Given the description of an element on the screen output the (x, y) to click on. 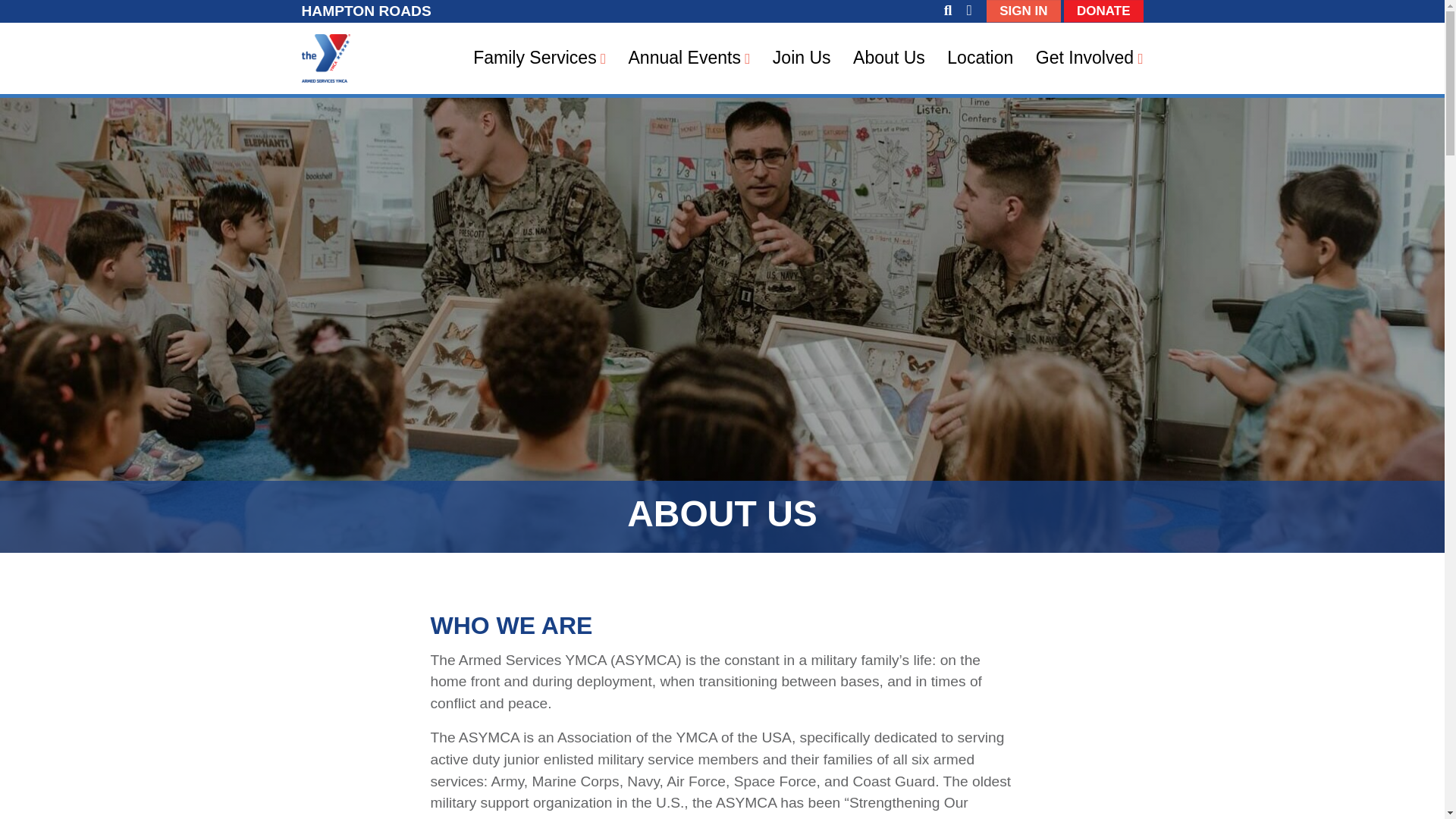
Family Services (534, 57)
DONATE (1103, 11)
Annual Events (684, 57)
SIGN IN (1023, 11)
Location (980, 57)
Join Us (802, 57)
About Us (888, 57)
Get Involved (1084, 57)
